Given the description of an element on the screen output the (x, y) to click on. 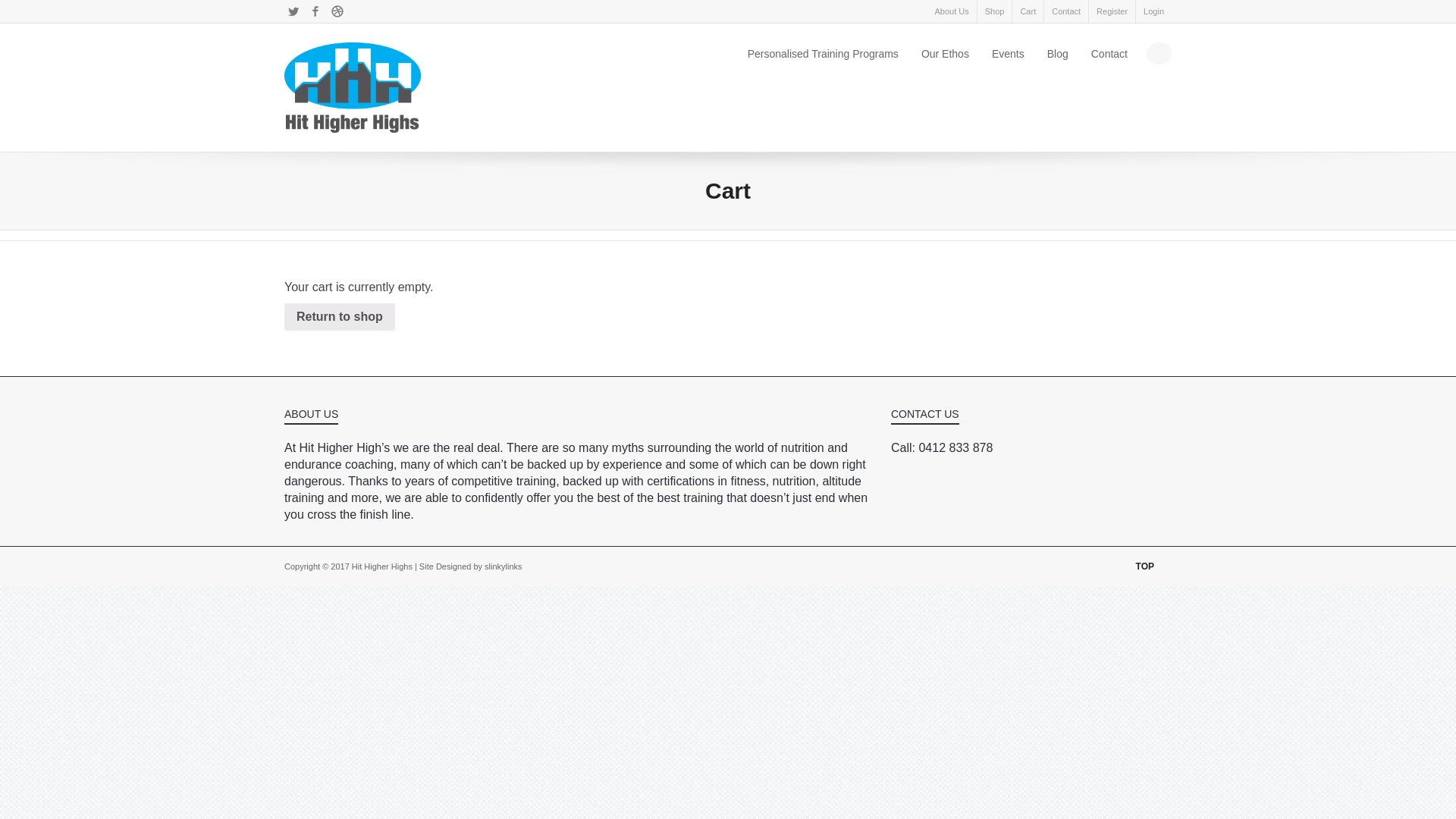
TOP Element type: text (1151, 566)
Shop Element type: text (994, 11)
Blog Element type: text (1057, 53)
About Us Element type: text (950, 11)
Register Element type: text (1111, 11)
Our Ethos Element type: text (945, 53)
Cart Element type: text (1027, 11)
Dribbble Element type: text (337, 11)
Twitter Element type: text (293, 11)
Personalised Training Programs Element type: text (822, 53)
Return to shop Element type: text (339, 316)
Events Element type: text (1007, 53)
Login Element type: text (1153, 11)
Contact Element type: text (1066, 11)
Contact Element type: text (1109, 53)
Facebook Element type: text (315, 11)
